Given the description of an element on the screen output the (x, y) to click on. 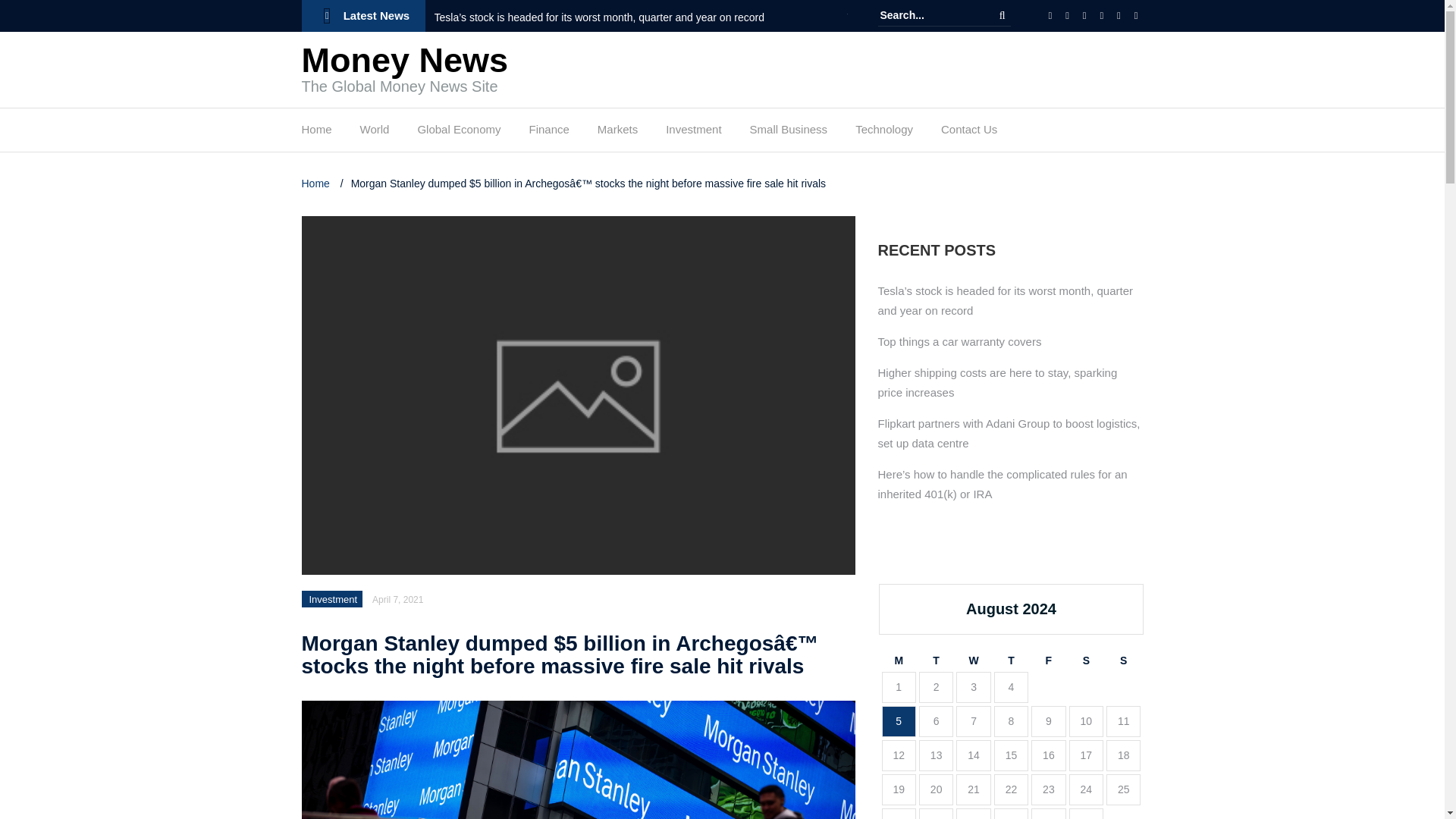
Search   (1002, 14)
Markets (616, 133)
Home (316, 133)
Monday (897, 660)
Sunday (1123, 660)
Technology (884, 133)
Saturday (1085, 660)
Thursday (1010, 660)
Contact Us (968, 133)
Money News (404, 59)
Small Business (788, 133)
Investment (692, 133)
Friday (1047, 660)
World (374, 133)
Wednesday (973, 660)
